Given the description of an element on the screen output the (x, y) to click on. 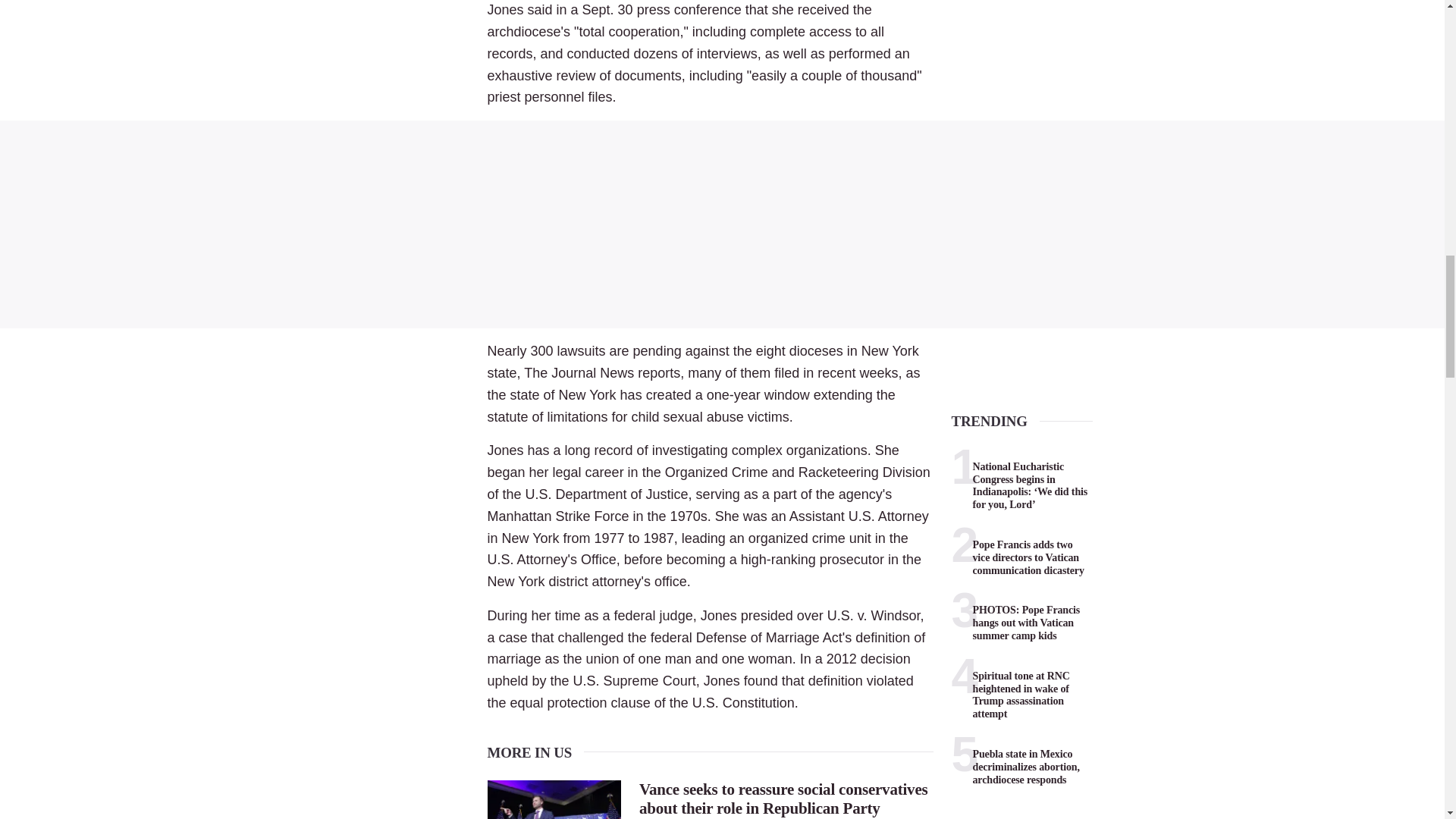
3rd party ad content (721, 224)
